Given the description of an element on the screen output the (x, y) to click on. 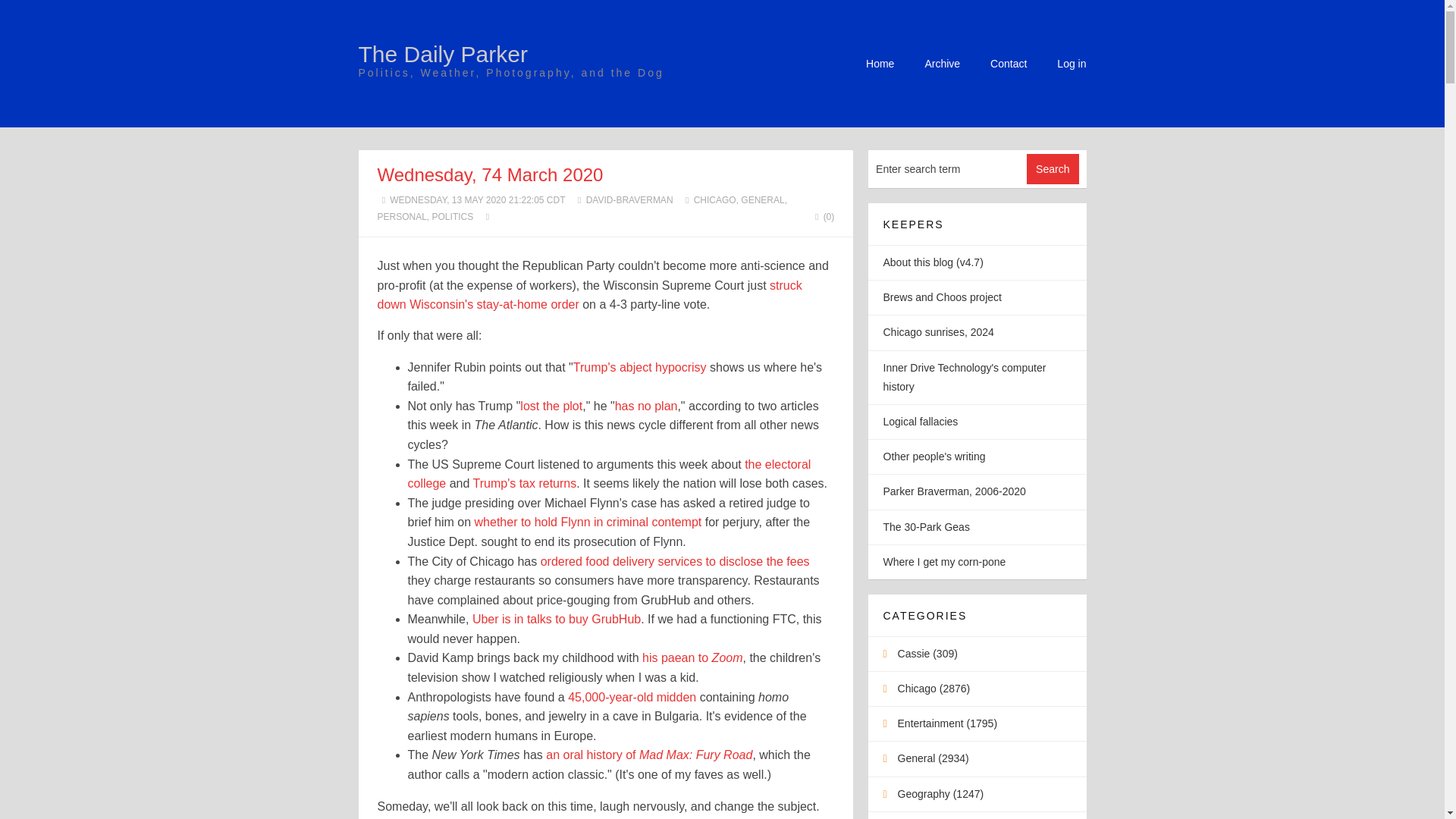
has no plan (646, 405)
Search (1053, 168)
Wednesday, 74 March 2020 (490, 174)
POLITICS (453, 216)
whether to hold Flynn in criminal contempt (587, 521)
Open a map of the location where this post was written (488, 216)
Enter search term (947, 168)
his paean to Zoom (692, 657)
struck down Wisconsin's stay-at-home order (589, 295)
Contact (1008, 63)
Trump's tax returns (524, 482)
Log in (1071, 63)
ordered food delivery services to disclose the fees (674, 561)
Mad Max: Fury Road (695, 754)
the electoral college (608, 473)
